Given the description of an element on the screen output the (x, y) to click on. 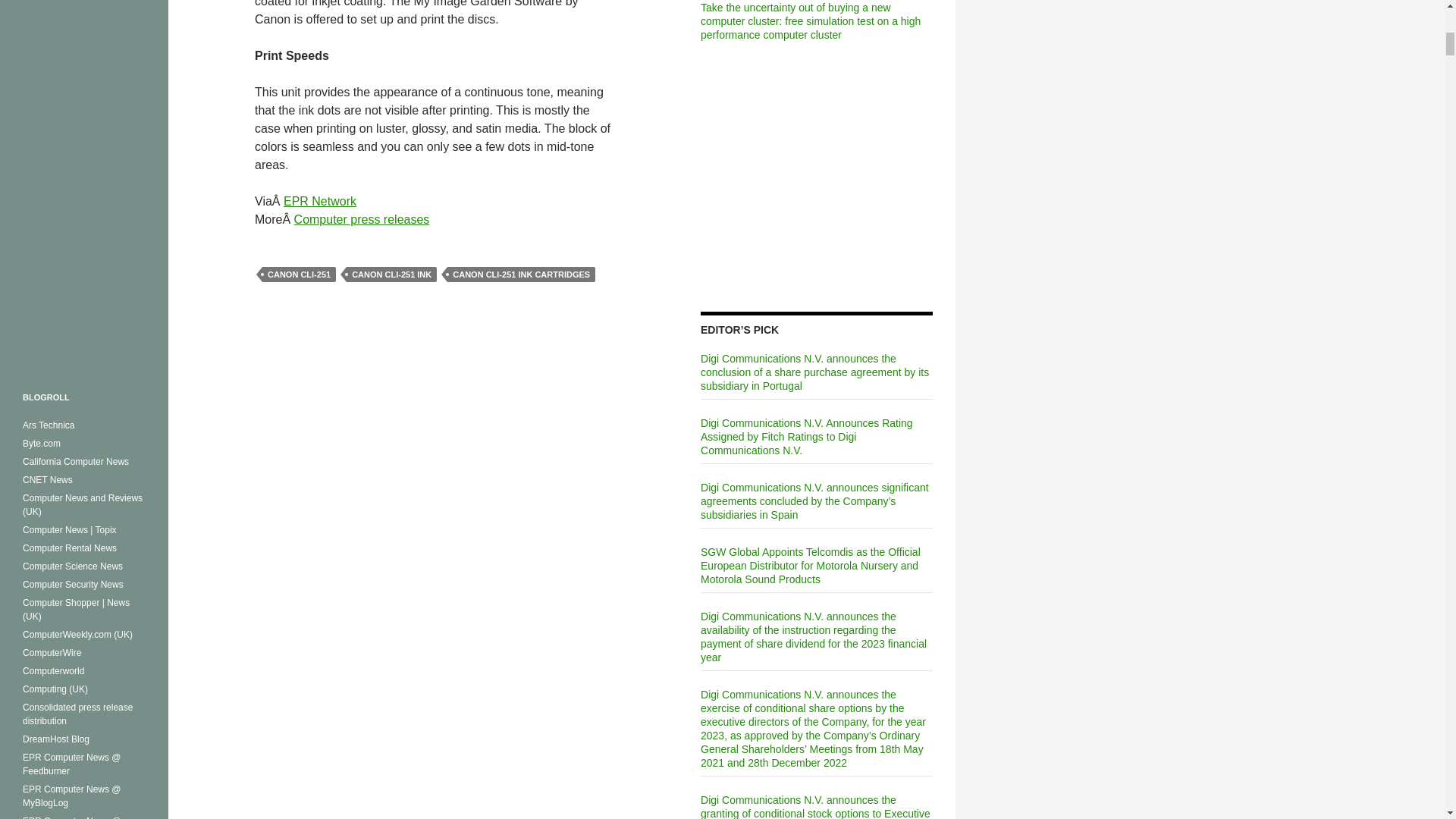
EPR Network (319, 201)
Computer press releases (361, 219)
CANON CLI-251 (299, 273)
Advertisement (816, 180)
CANON CLI-251 INK CARTRIDGES (520, 273)
CANON CLI-251 INK (391, 273)
